Given the description of an element on the screen output the (x, y) to click on. 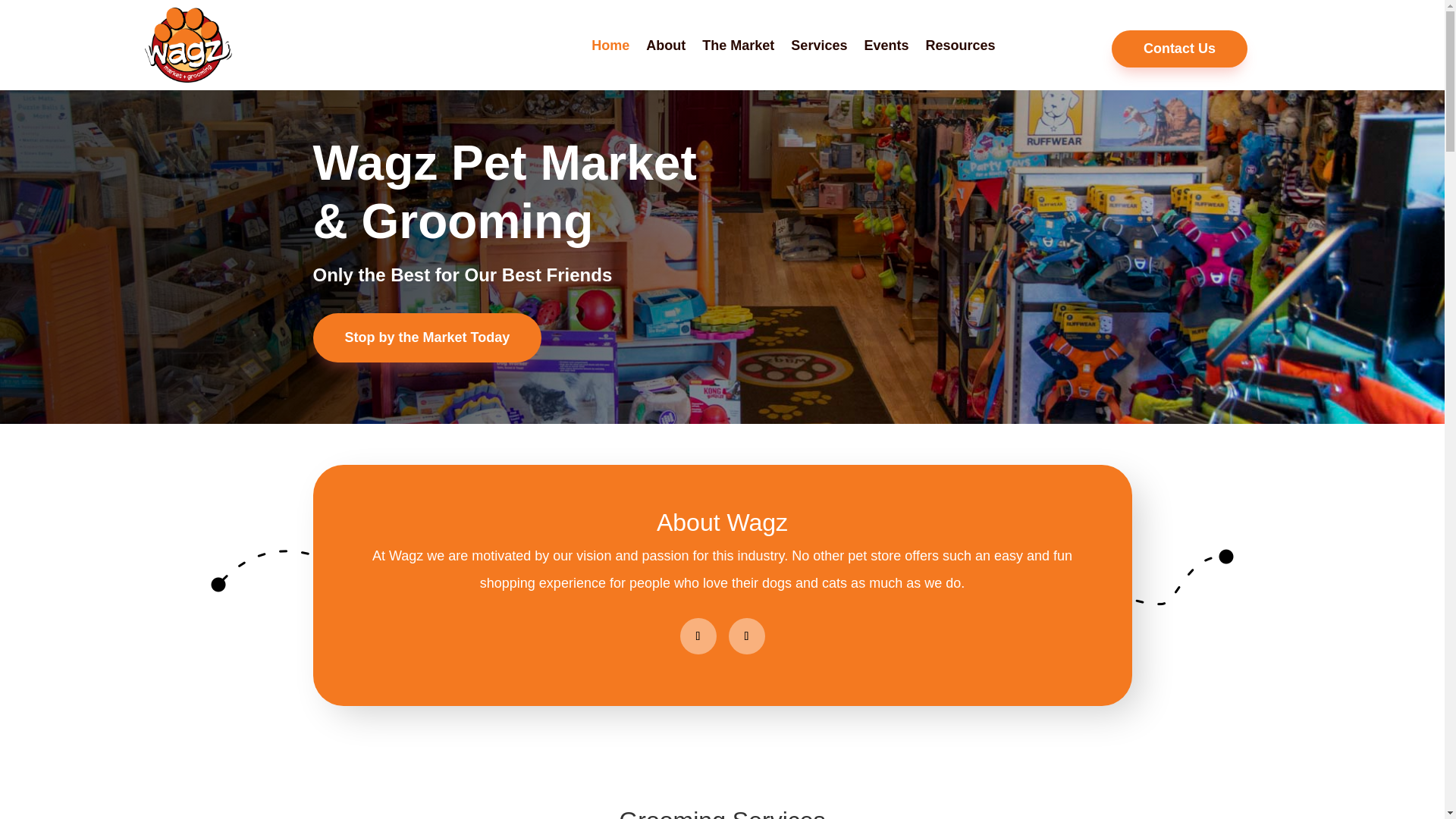
Stop by the Market Today (427, 337)
The Market (737, 44)
Contact Us (1179, 48)
Resources (959, 44)
Follow on Instagram (746, 636)
Follow on Facebook (697, 636)
